Given the description of an element on the screen output the (x, y) to click on. 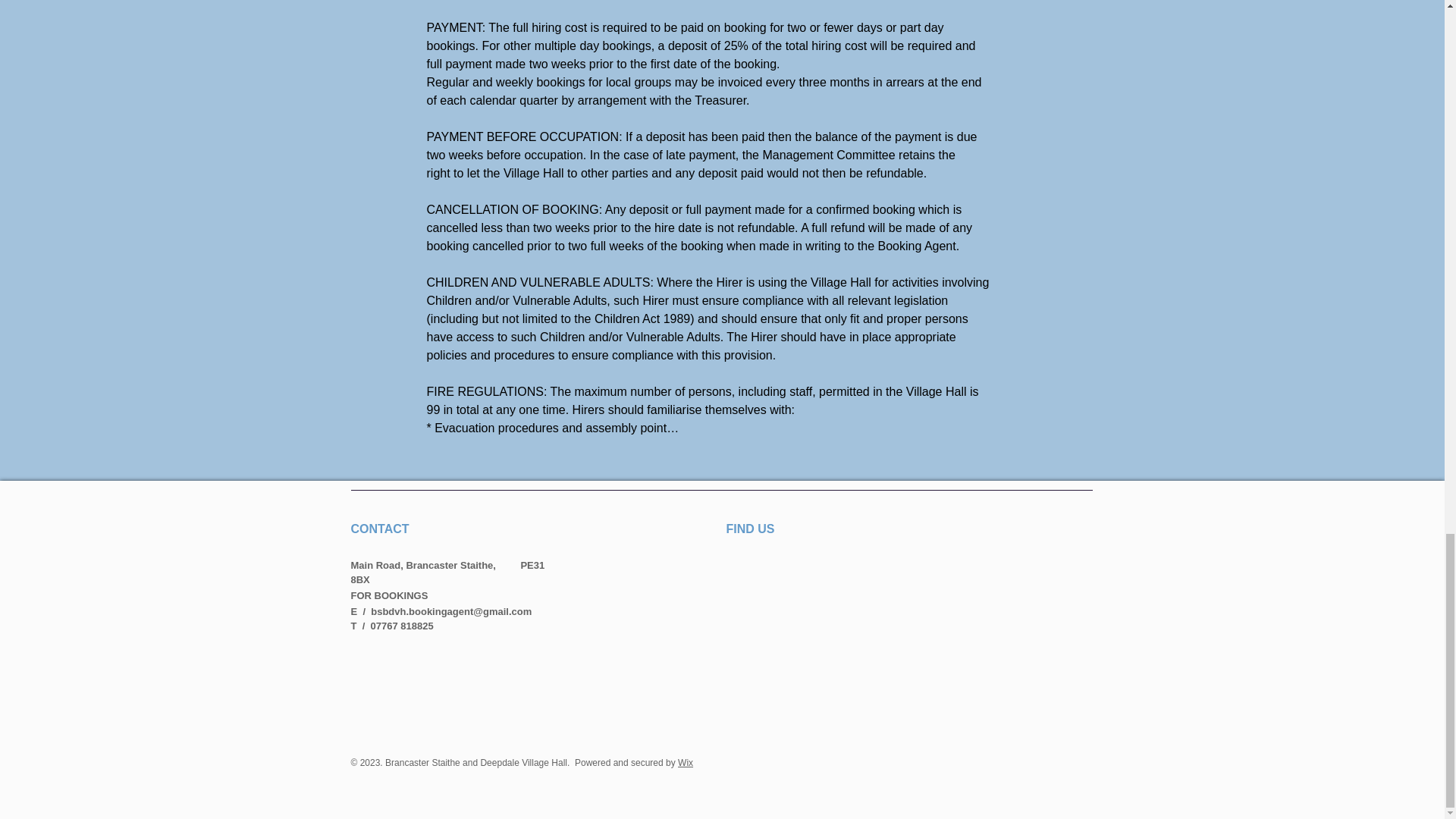
Wix (685, 762)
